Given the description of an element on the screen output the (x, y) to click on. 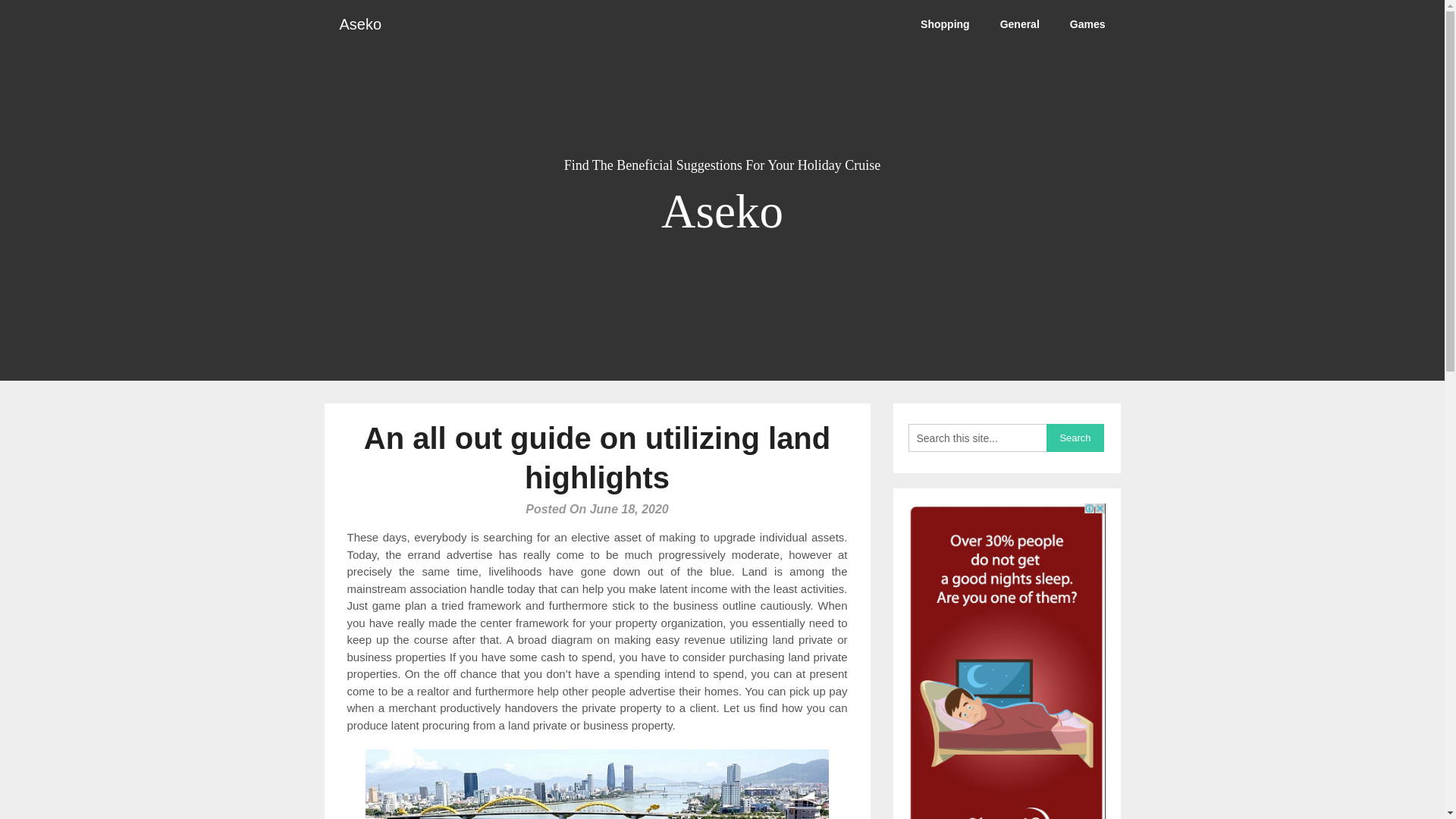
Search (1075, 438)
Search this site... (977, 438)
General (1019, 24)
Shopping (945, 24)
Aseko (360, 24)
Search (1075, 438)
Games (1087, 24)
